Given the description of an element on the screen output the (x, y) to click on. 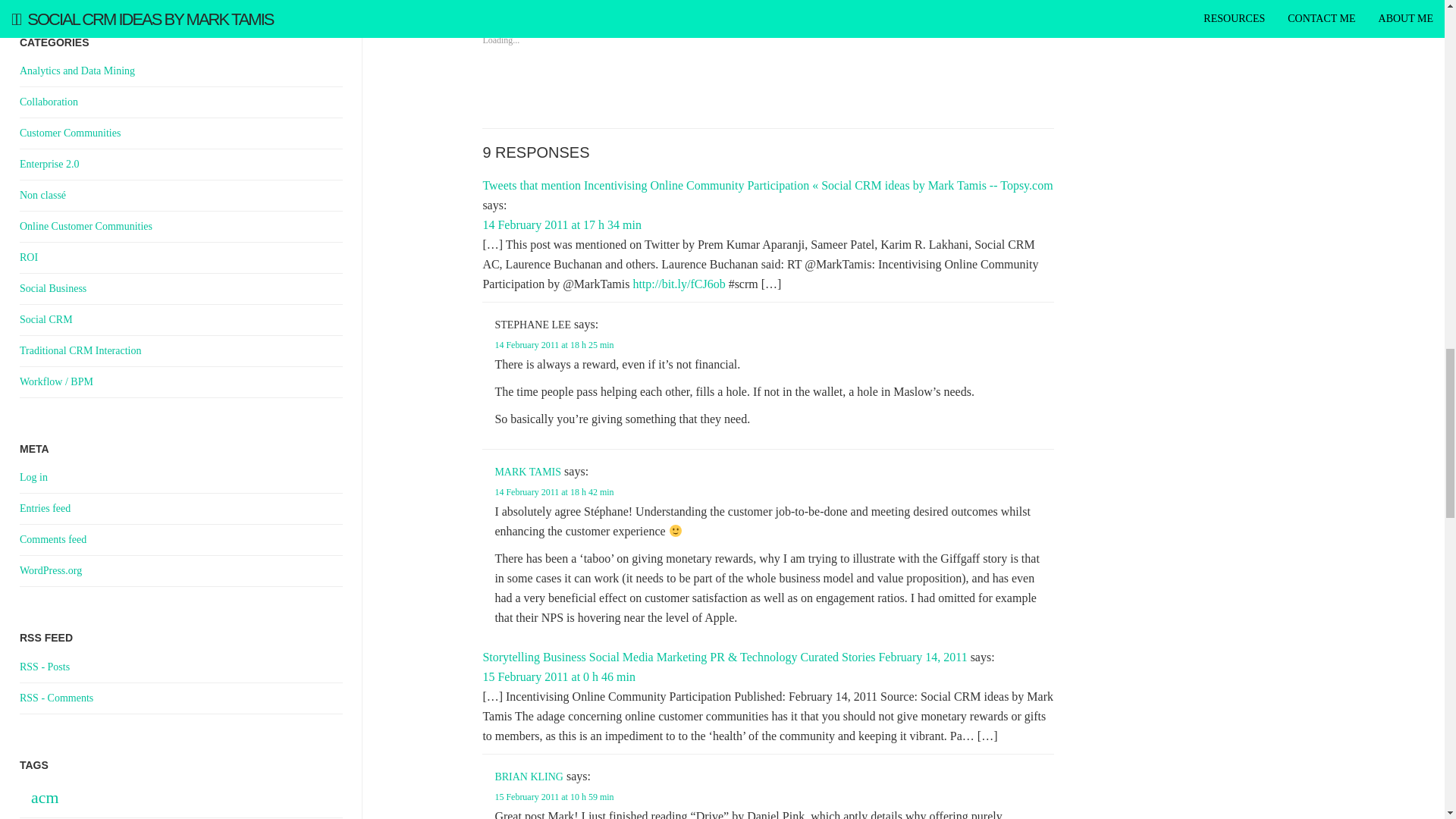
14 February 2011 at 17 h 34 min (561, 224)
14 February 2011 at 18 h 25 min (553, 344)
15 February 2011 at 0 h 46 min (557, 676)
14 February 2011 at 18 h 42 min (553, 491)
MARK TAMIS (527, 471)
15 February 2011 at 10 h 59 min (553, 796)
BRIAN KLING (529, 776)
